Given the description of an element on the screen output the (x, y) to click on. 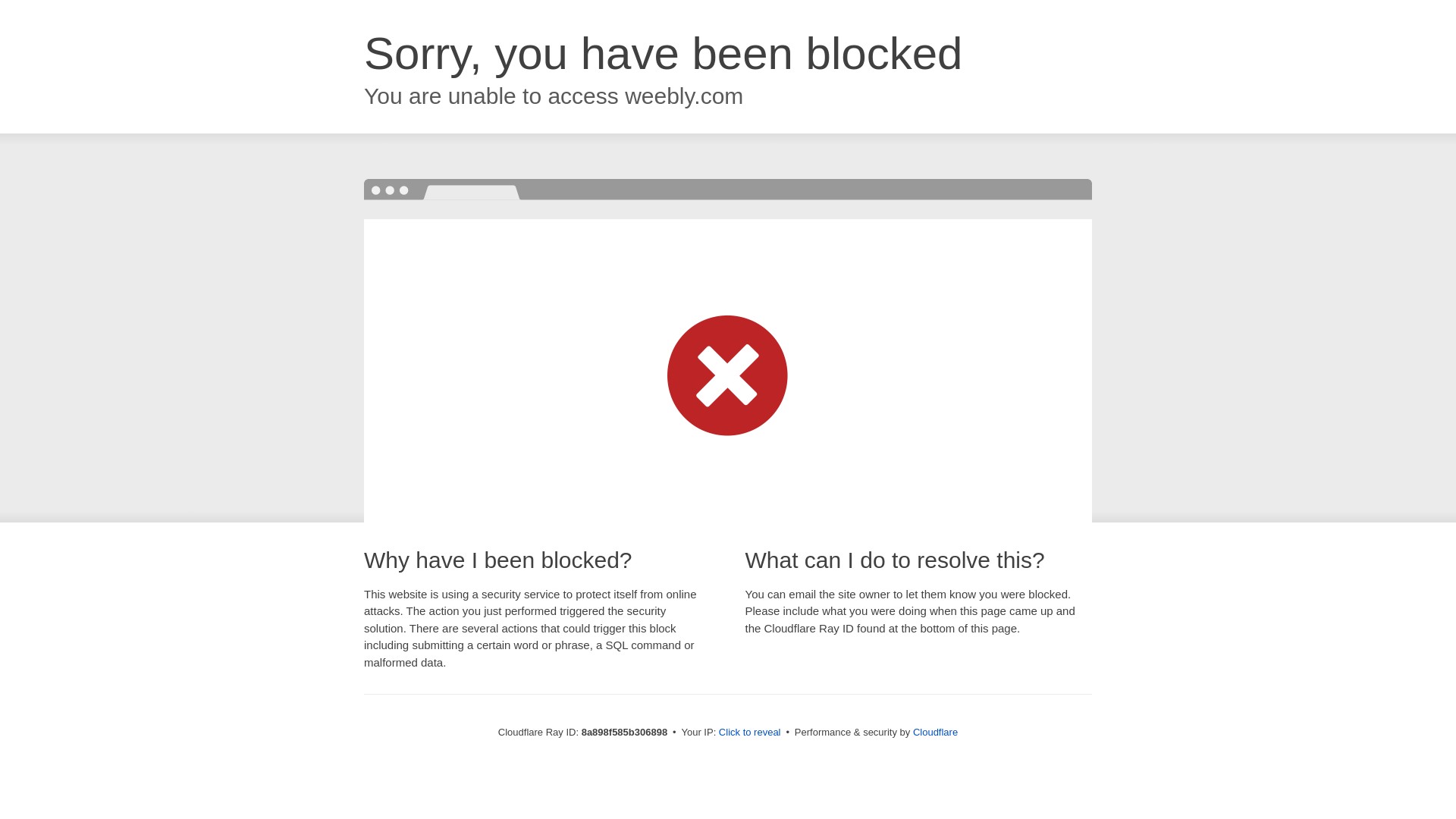
Cloudflare (935, 731)
Click to reveal (749, 732)
